Given the description of an element on the screen output the (x, y) to click on. 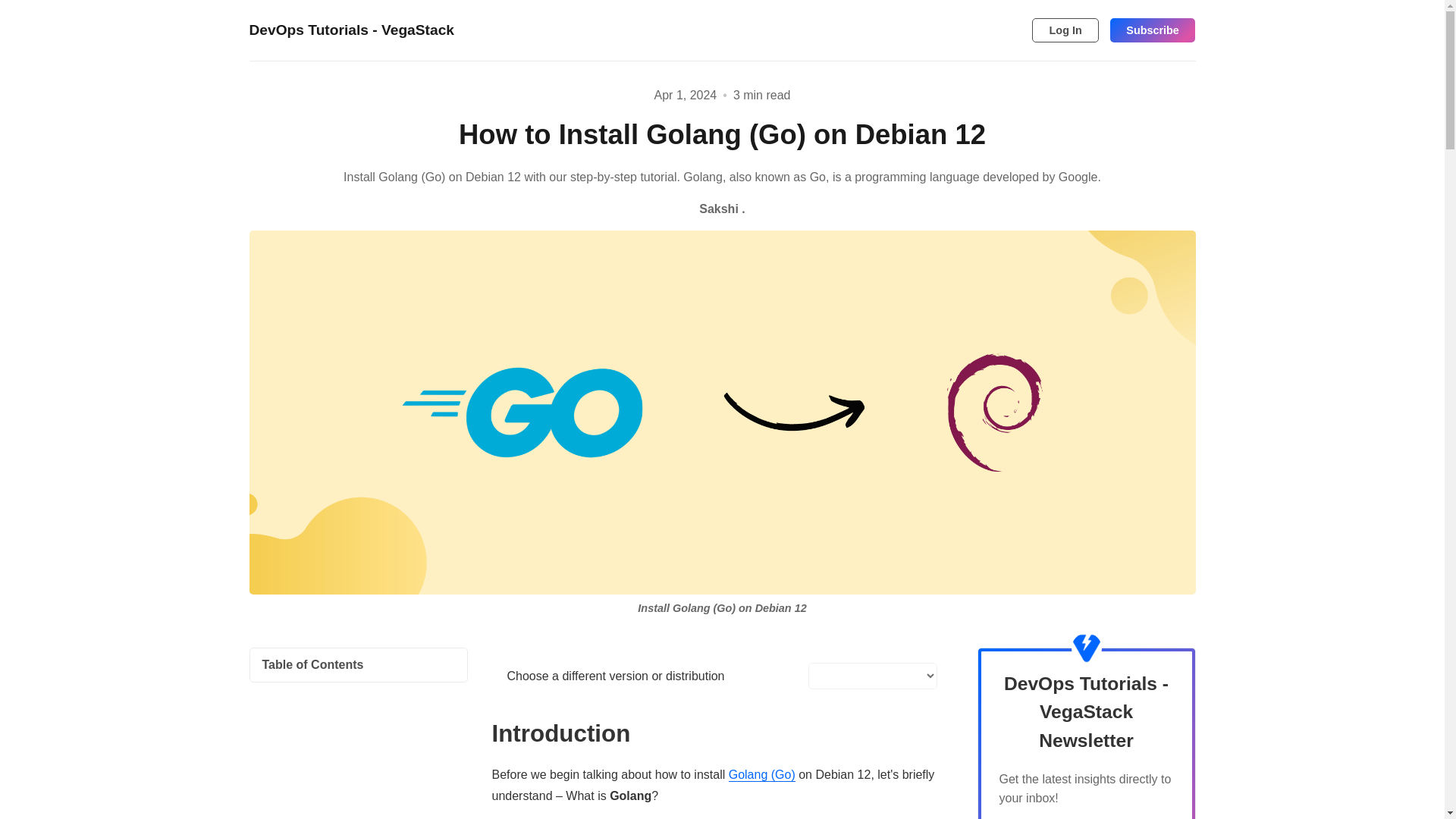
Theme Toggle (990, 30)
Sakshi . (721, 209)
Log In (1065, 30)
Subscribe (1152, 30)
Search (1014, 30)
DevOps Tutorials - VegaStack (351, 30)
